Given the description of an element on the screen output the (x, y) to click on. 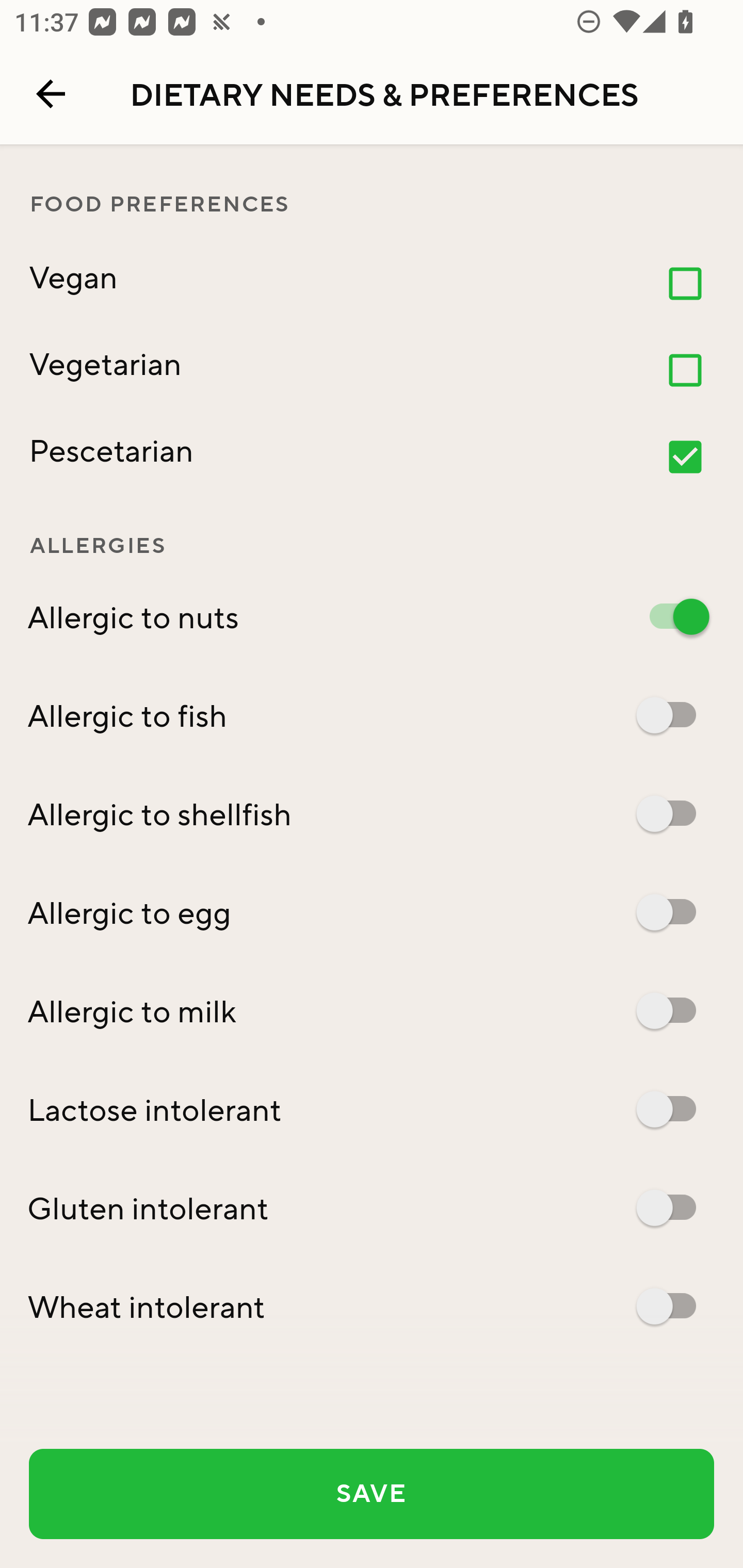
Navigate up (50, 93)
SAVE (371, 1493)
